Given the description of an element on the screen output the (x, y) to click on. 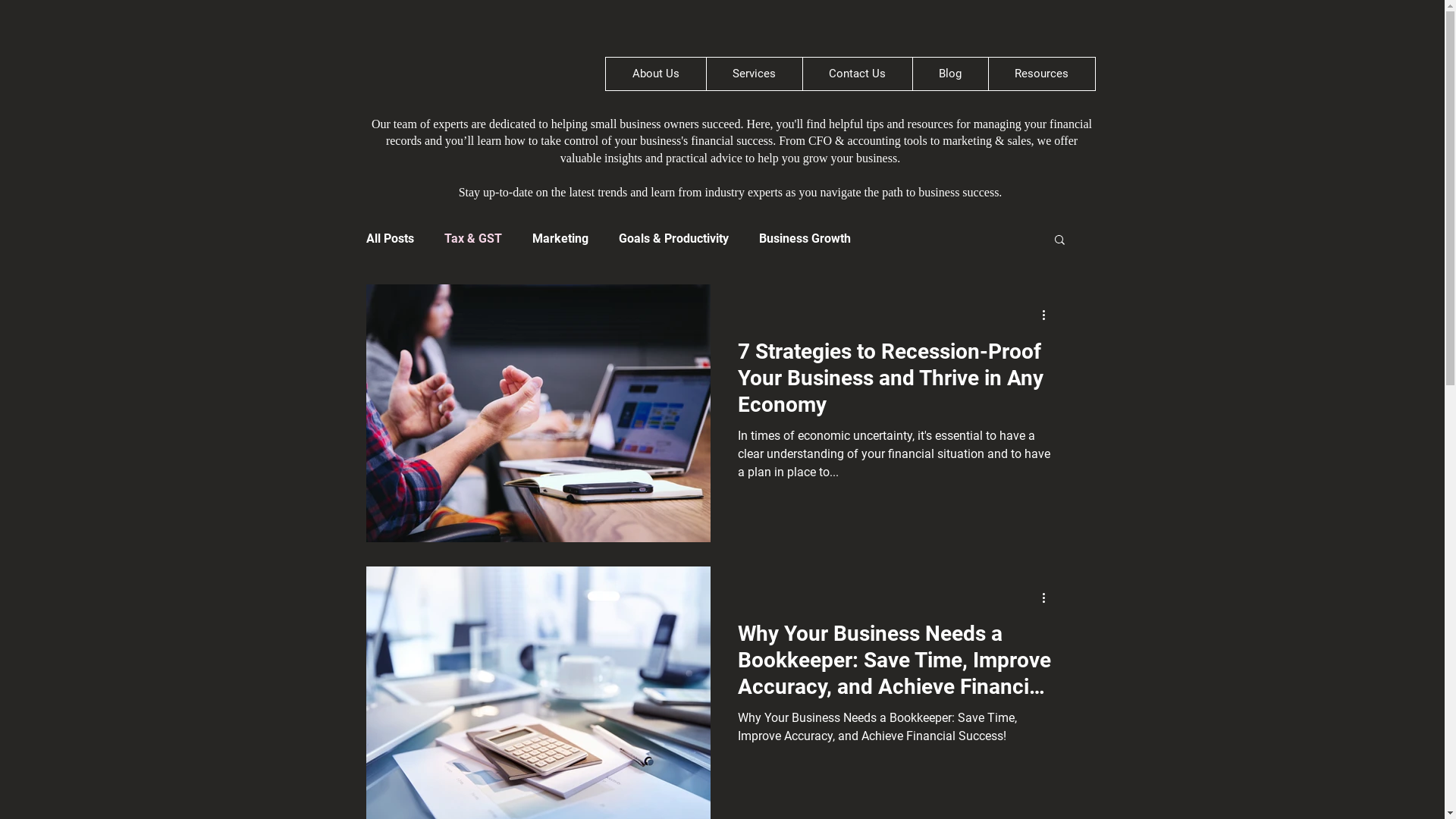
Marketing Element type: text (560, 238)
Business Growth Element type: text (804, 238)
All Posts Element type: text (389, 238)
Goals & Productivity Element type: text (673, 238)
Blog Element type: text (949, 73)
Contact Us Element type: text (857, 73)
About Us Element type: text (655, 73)
Services Element type: text (753, 73)
Tax & GST Element type: text (473, 238)
Resources Element type: text (1040, 73)
